Given the description of an element on the screen output the (x, y) to click on. 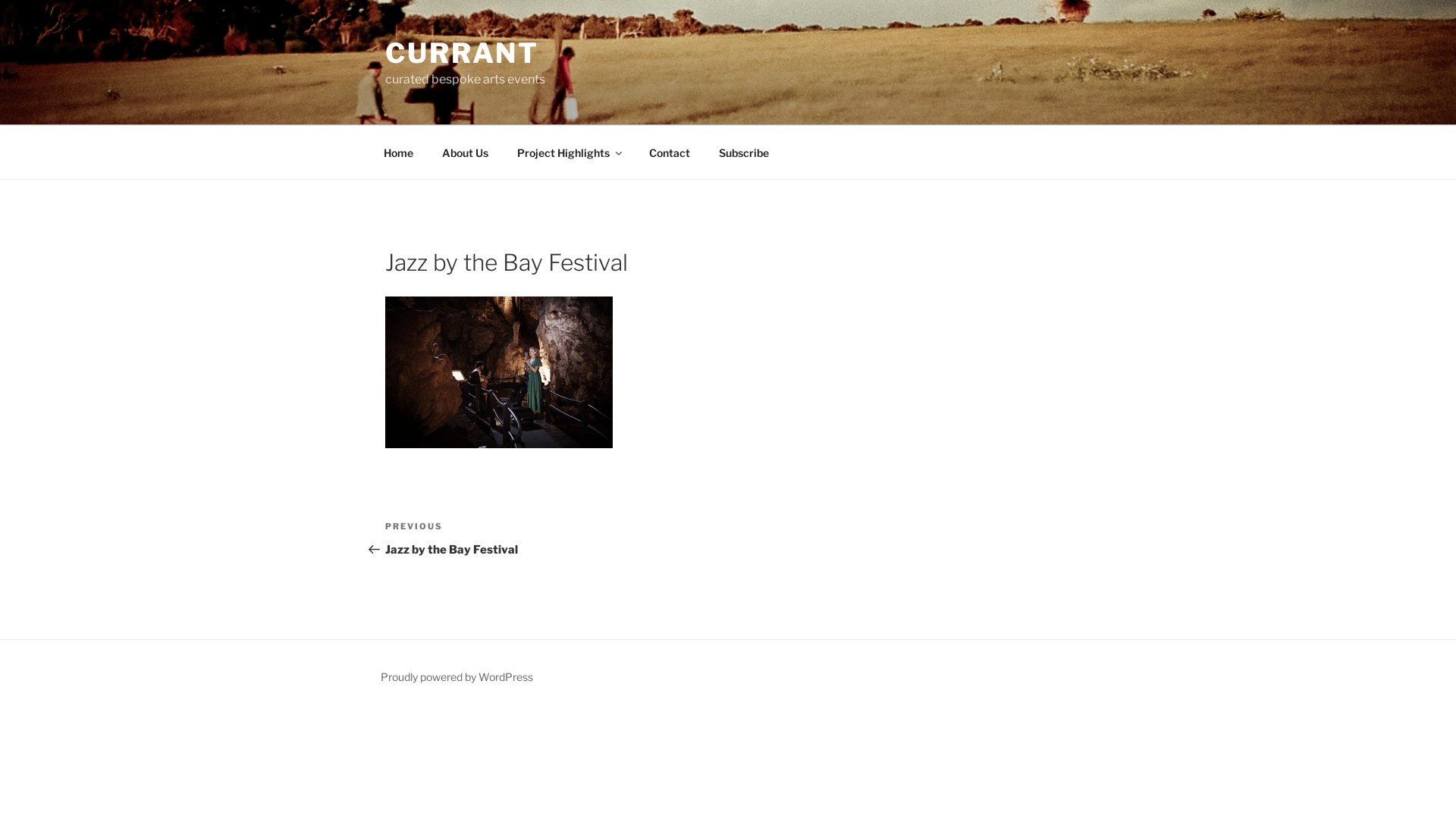
Home Element type: text (398, 151)
About Us Element type: text (464, 151)
Proudly powered by WordPress Element type: text (456, 676)
Contact Element type: text (668, 151)
CURRANT Element type: text (462, 52)
Subscribe Element type: text (743, 151)
Project Highlights Element type: text (568, 151)
Previous Post
PREVIOUS
Jazz by the Bay Festival Element type: text (556, 538)
Skip to content Element type: text (0, 0)
